Given the description of an element on the screen output the (x, y) to click on. 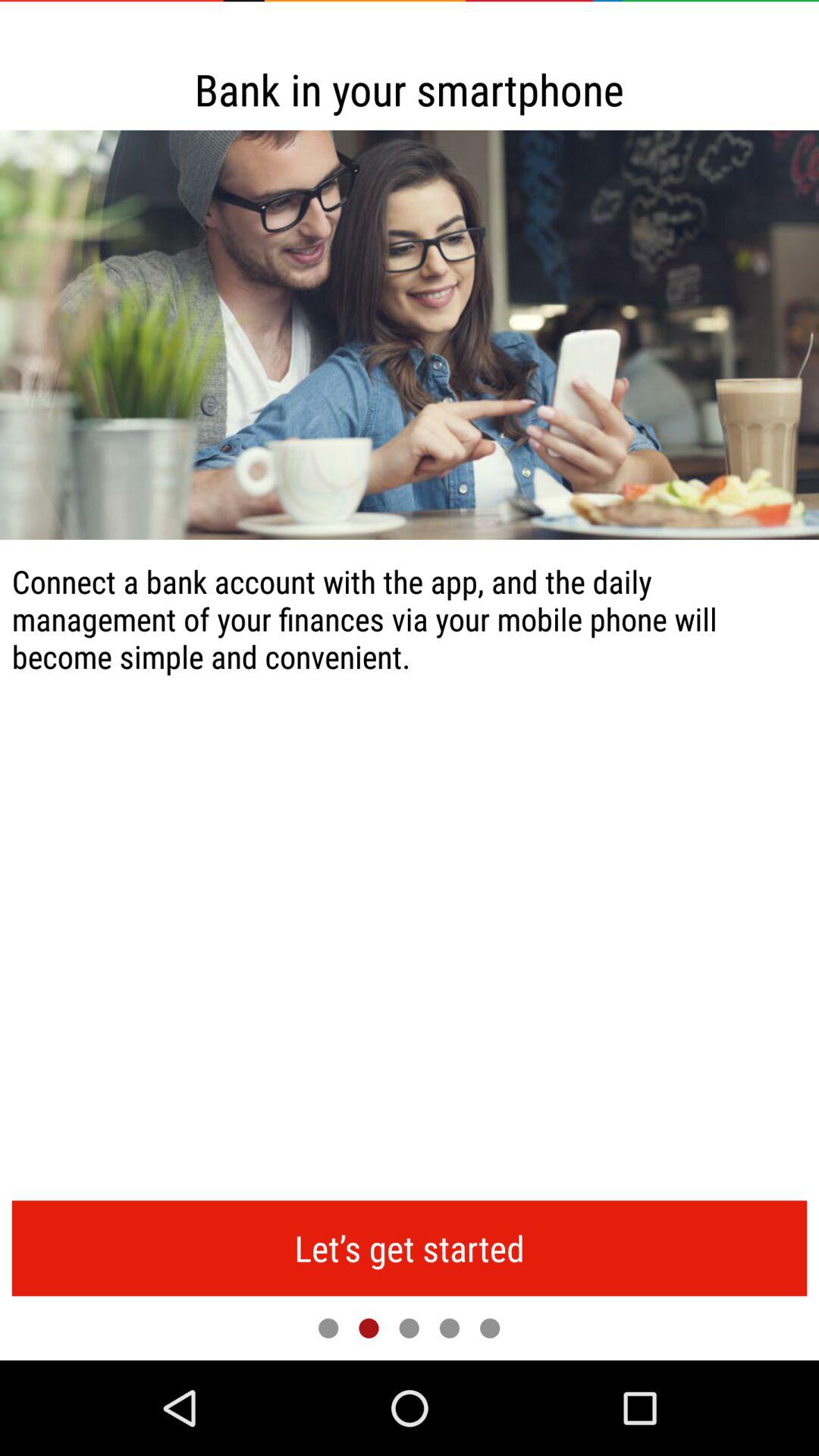
switch page (409, 1328)
